Given the description of an element on the screen output the (x, y) to click on. 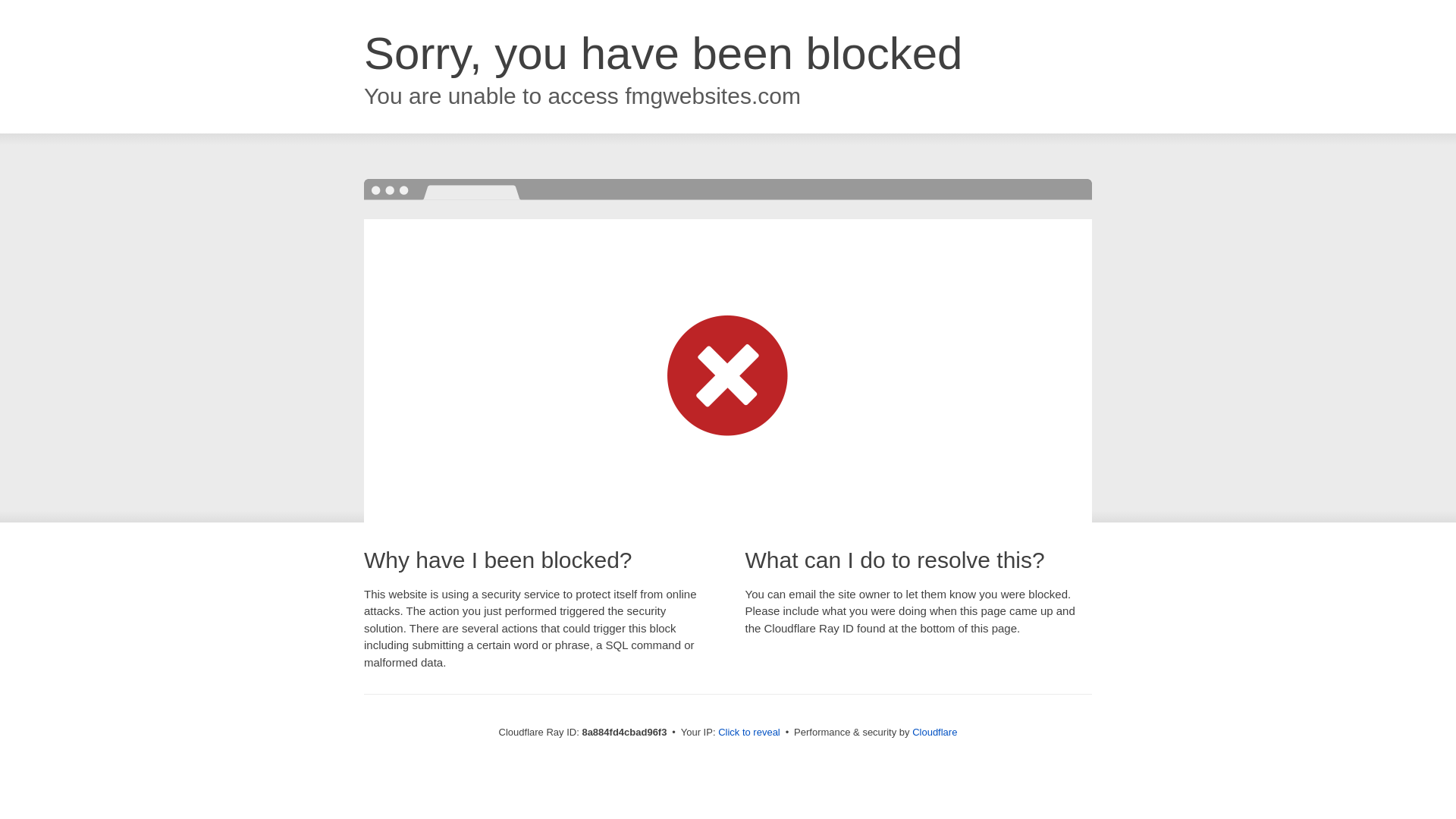
Click to reveal (748, 732)
Cloudflare (934, 731)
